Given the description of an element on the screen output the (x, y) to click on. 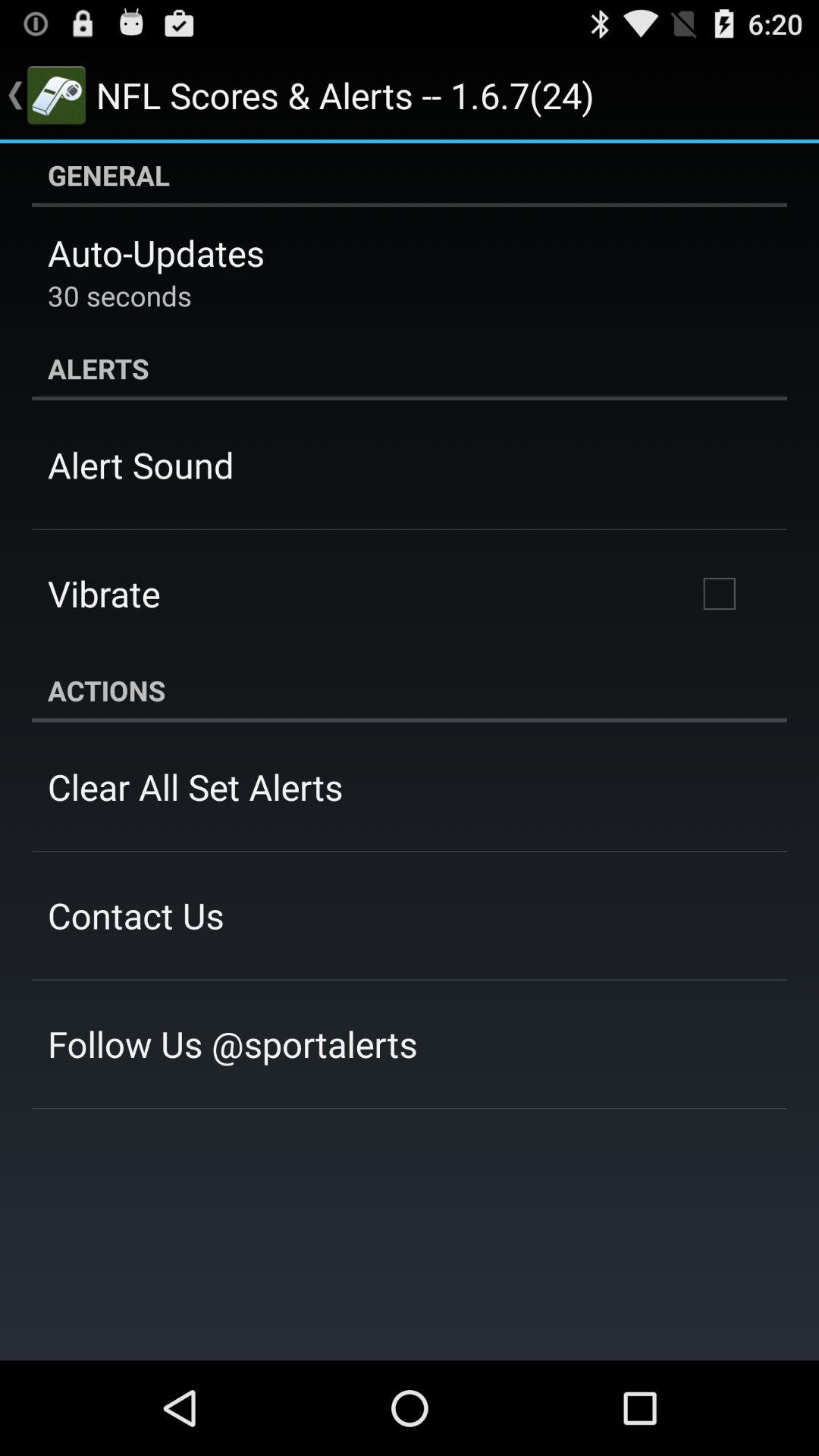
choose the icon on the right (719, 593)
